Given the description of an element on the screen output the (x, y) to click on. 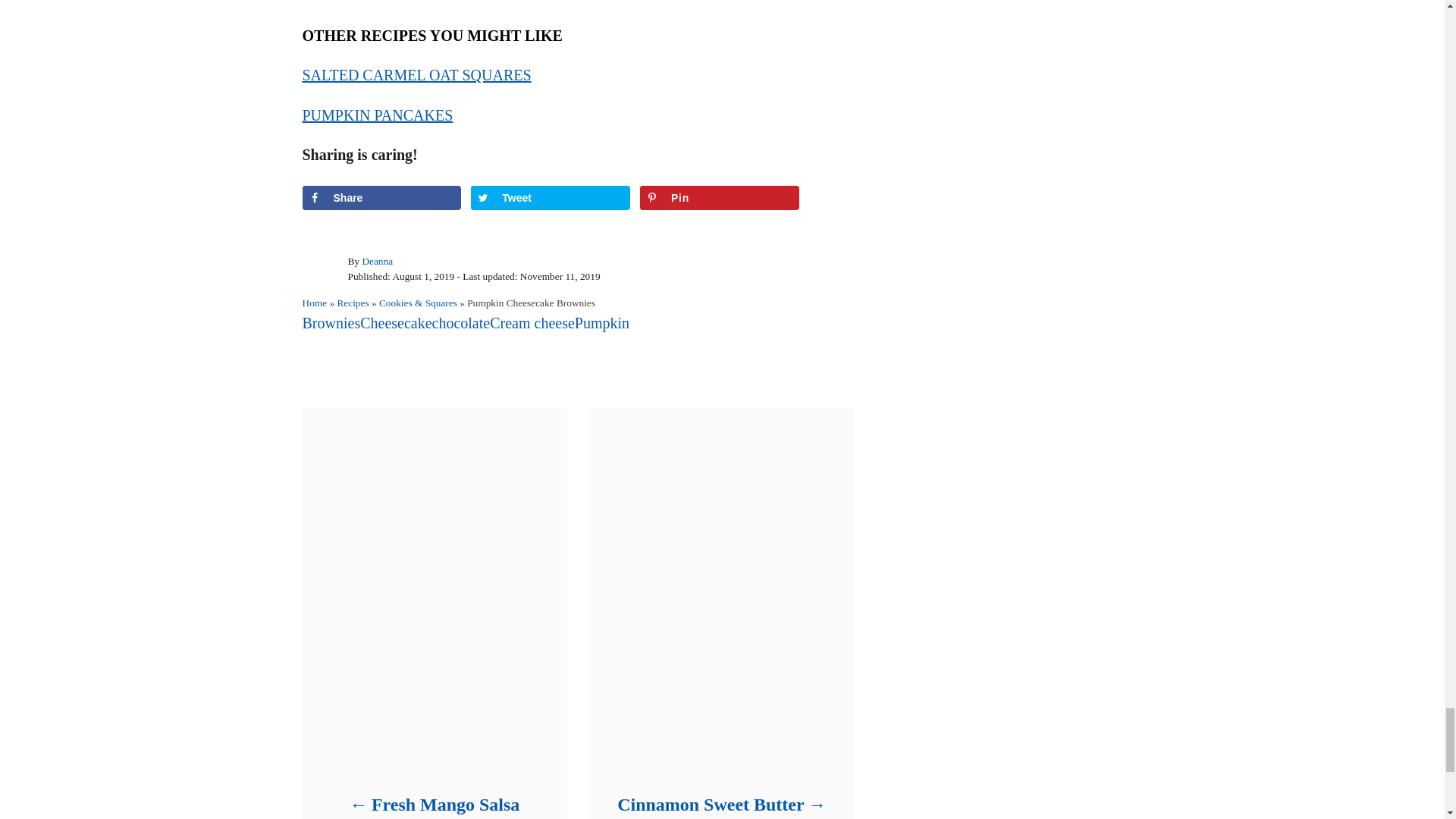
Save to Pinterest (719, 197)
Share on Twitter (550, 197)
Share on Facebook (381, 197)
